Given the description of an element on the screen output the (x, y) to click on. 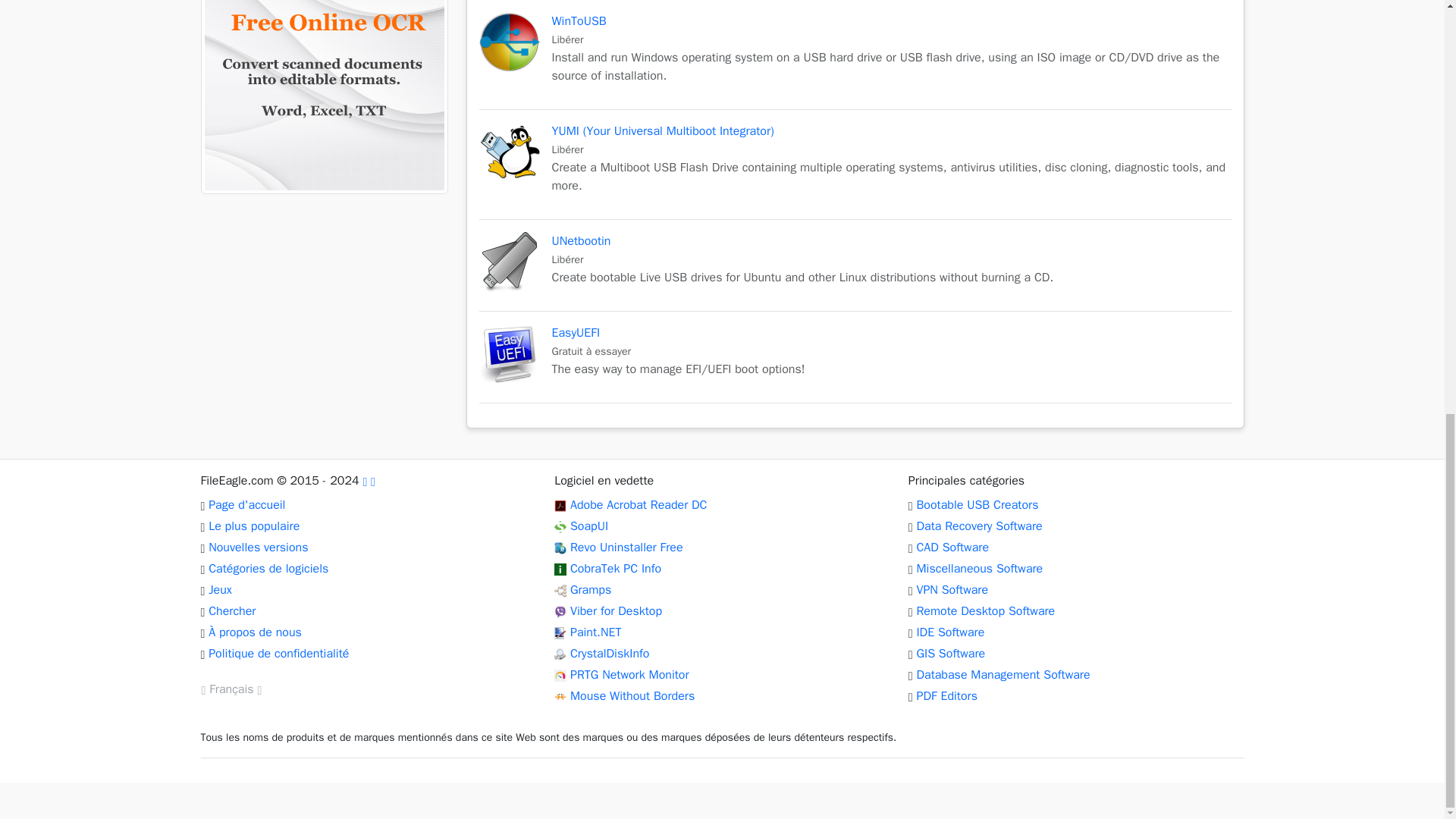
Free Online OCR Converter (638, 504)
